Given the description of an element on the screen output the (x, y) to click on. 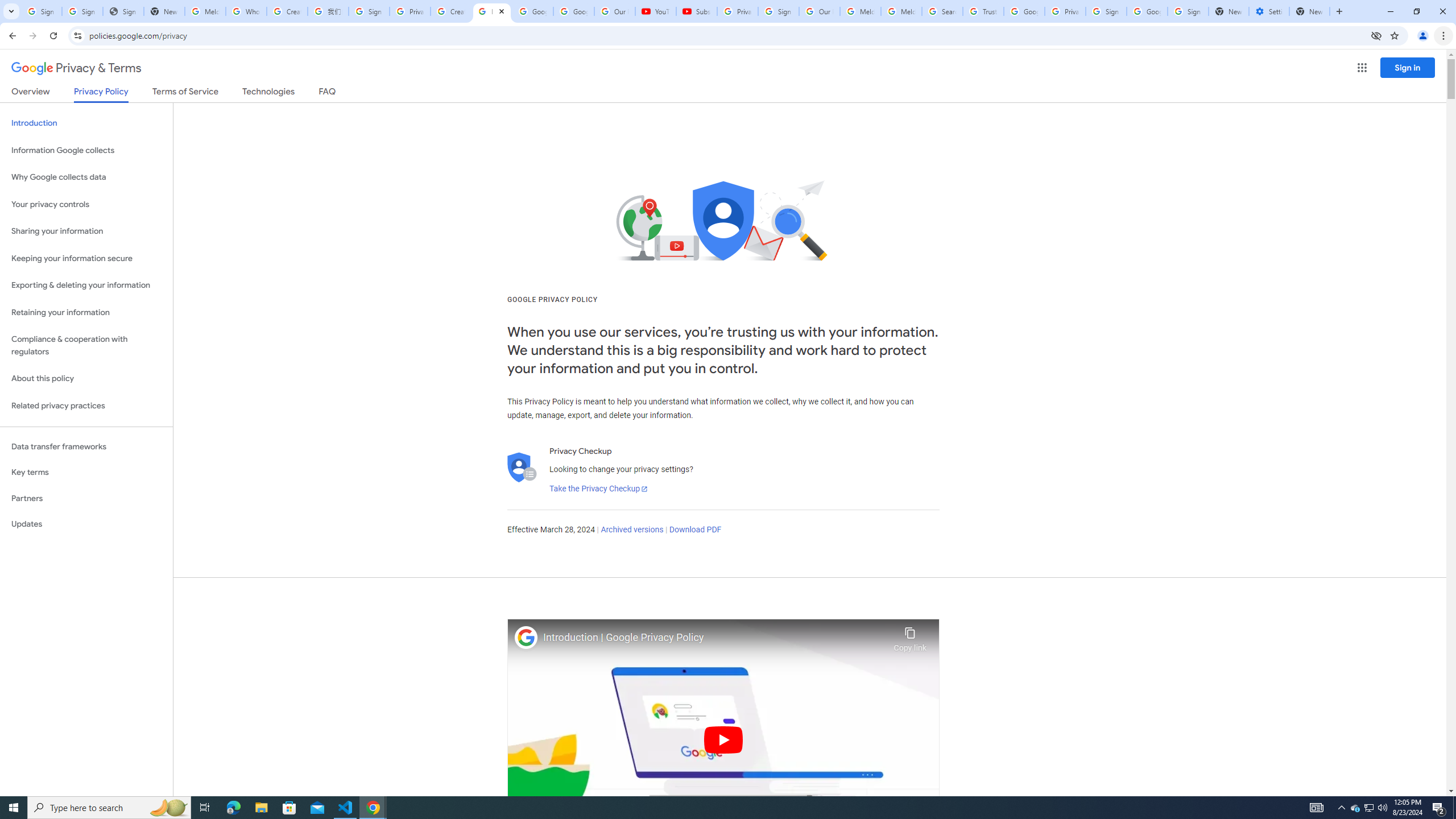
Who is my administrator? - Google Account Help (246, 11)
Sign In - USA TODAY (122, 11)
Google Account (573, 11)
Take the Privacy Checkup (597, 488)
Compliance & cooperation with regulators (86, 345)
Retaining your information (86, 312)
Your privacy controls (86, 204)
